Given the description of an element on the screen output the (x, y) to click on. 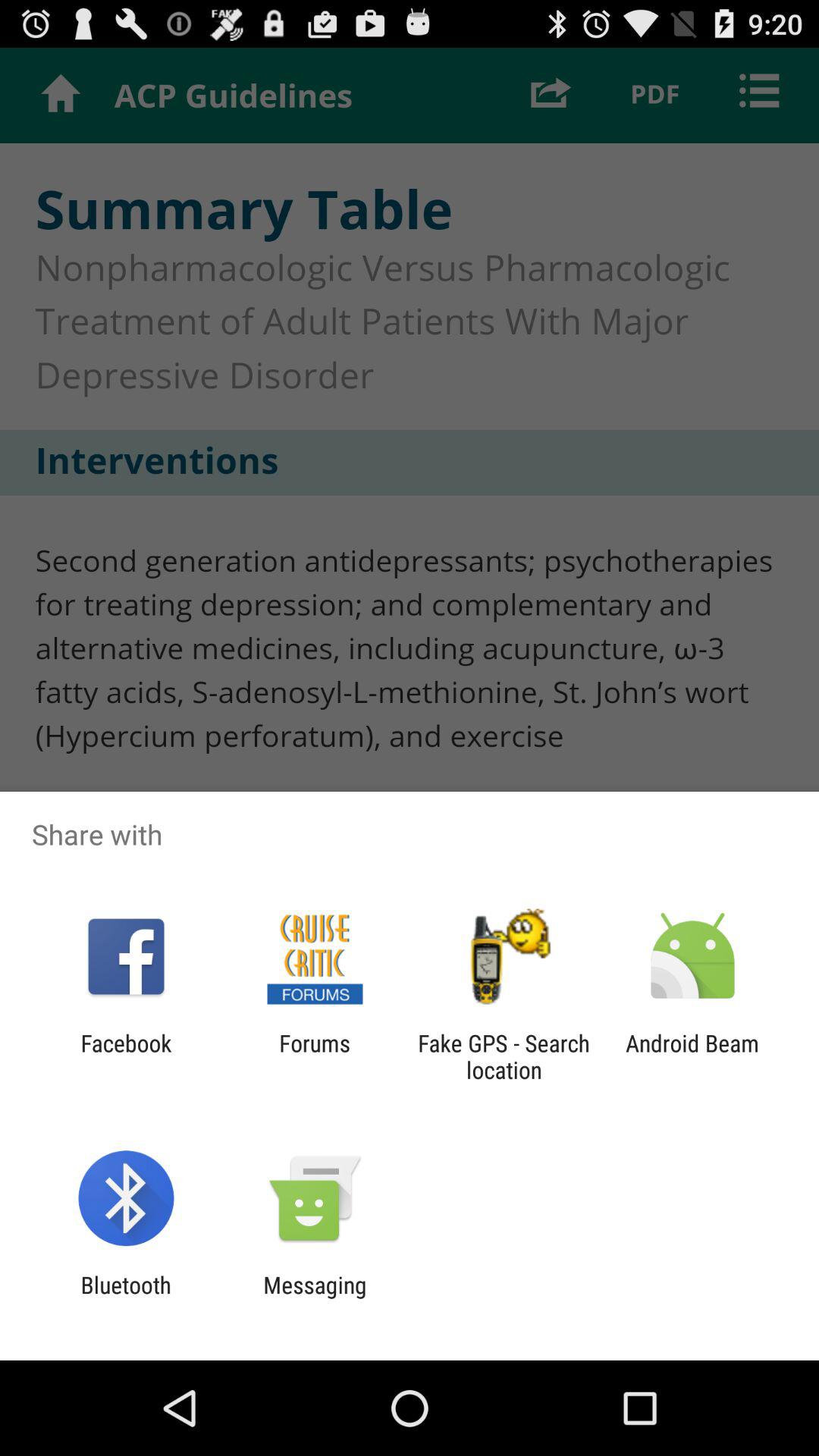
turn off the icon at the bottom right corner (692, 1056)
